Given the description of an element on the screen output the (x, y) to click on. 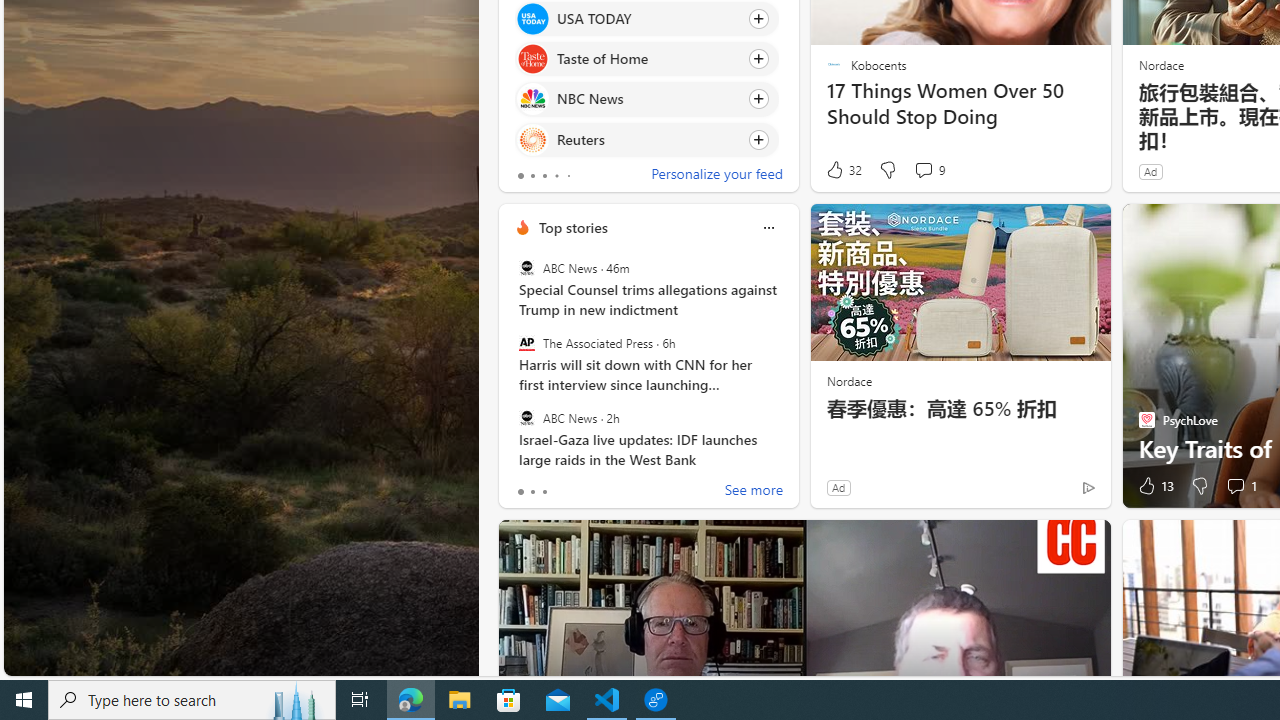
The Associated Press (526, 343)
View comments 9 Comment (928, 170)
Dislike (1199, 485)
Click to follow source Reuters (646, 138)
Reuters (532, 139)
View comments 1 Comment (1240, 485)
Personalize your feed (716, 175)
tab-3 (556, 175)
tab-0 (520, 491)
tab-1 (532, 491)
View comments 1 Comment (1234, 485)
